Given the description of an element on the screen output the (x, y) to click on. 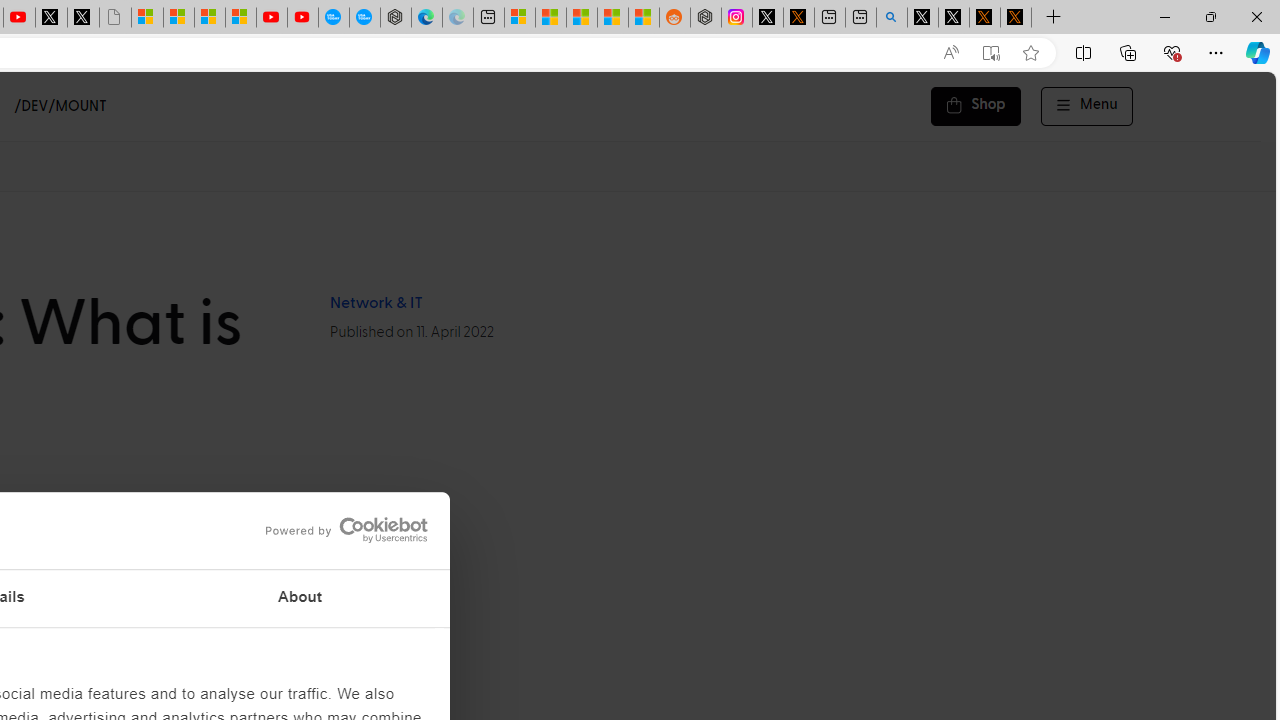
Menu Off-Canvas (1087, 106)
Powered by Cookiebot (345, 530)
Shanghai, China hourly forecast | Microsoft Weather (581, 17)
GitHub (@github) / X (953, 17)
github - Search (891, 17)
Untitled (114, 17)
